Given the description of an element on the screen output the (x, y) to click on. 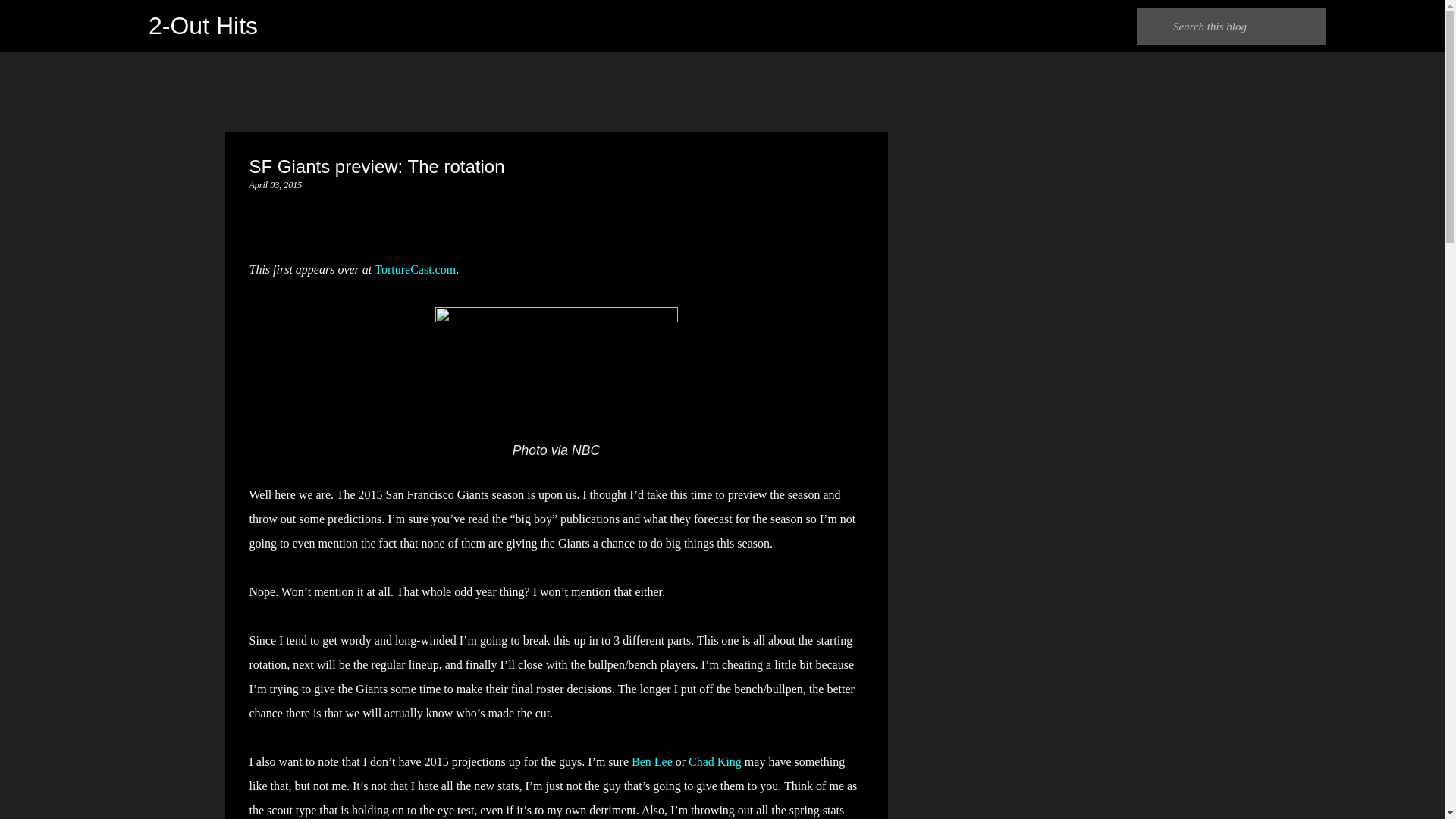
Chad King (714, 761)
permanent link (274, 184)
Ben Lee (651, 761)
2-Out Hits (202, 25)
April 03, 2015 (274, 184)
TortureCast.com (414, 269)
